Given the description of an element on the screen output the (x, y) to click on. 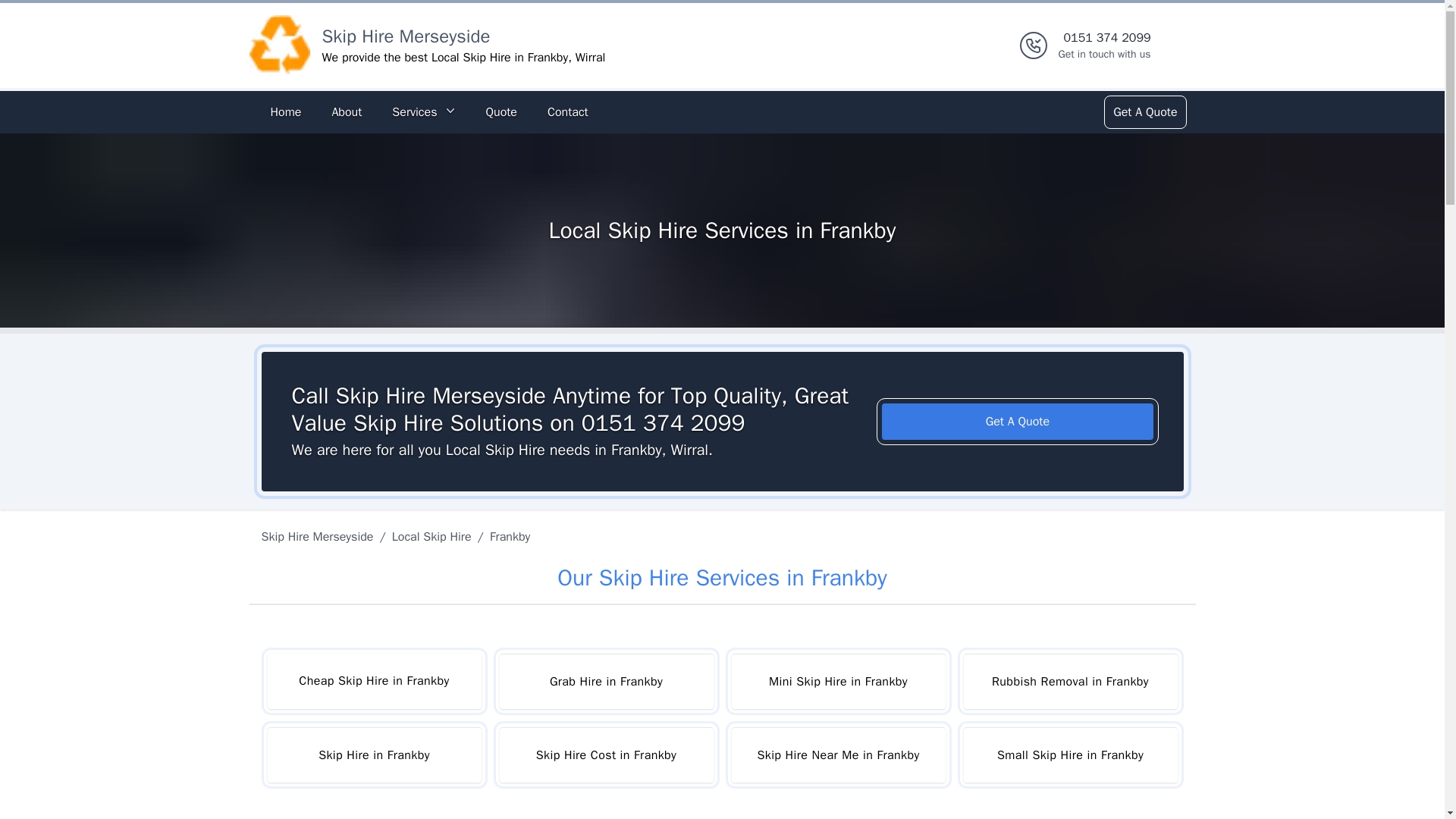
Home (285, 112)
Grab Hire in Frankby (606, 681)
Local Skip Hire (431, 536)
Skip Hire Merseyside (319, 536)
Quote (500, 112)
Services (423, 112)
Rubbish Removal in Frankby (1069, 681)
Skip Hire Cost in Frankby (606, 754)
About (1104, 45)
